Given the description of an element on the screen output the (x, y) to click on. 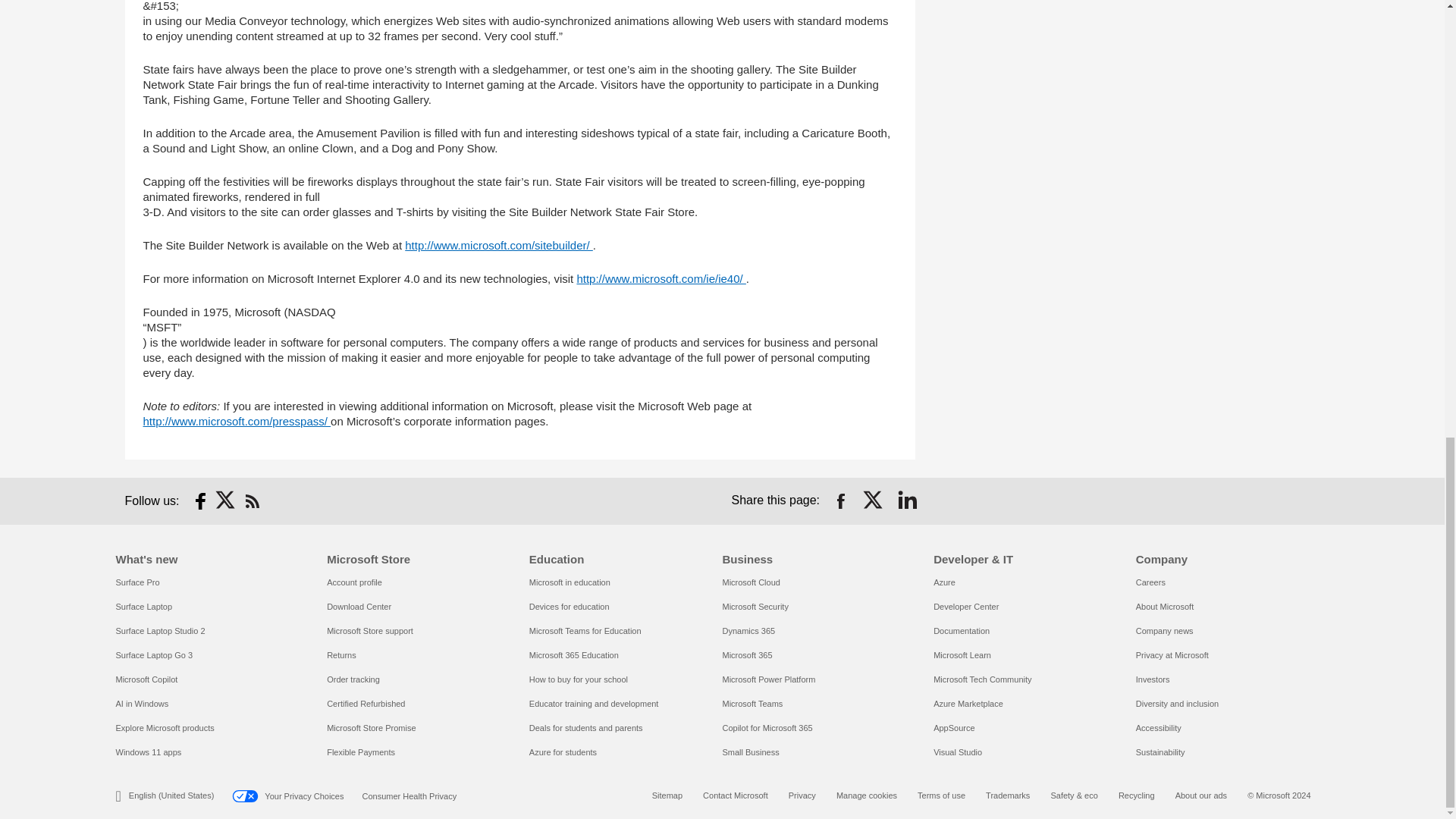
Share on LinkedIn (907, 500)
Share on Twitter (873, 500)
Follow on Facebook (200, 500)
RSS Subscription (252, 500)
Share on Facebook (840, 500)
Follow on Twitter (226, 500)
